Given the description of an element on the screen output the (x, y) to click on. 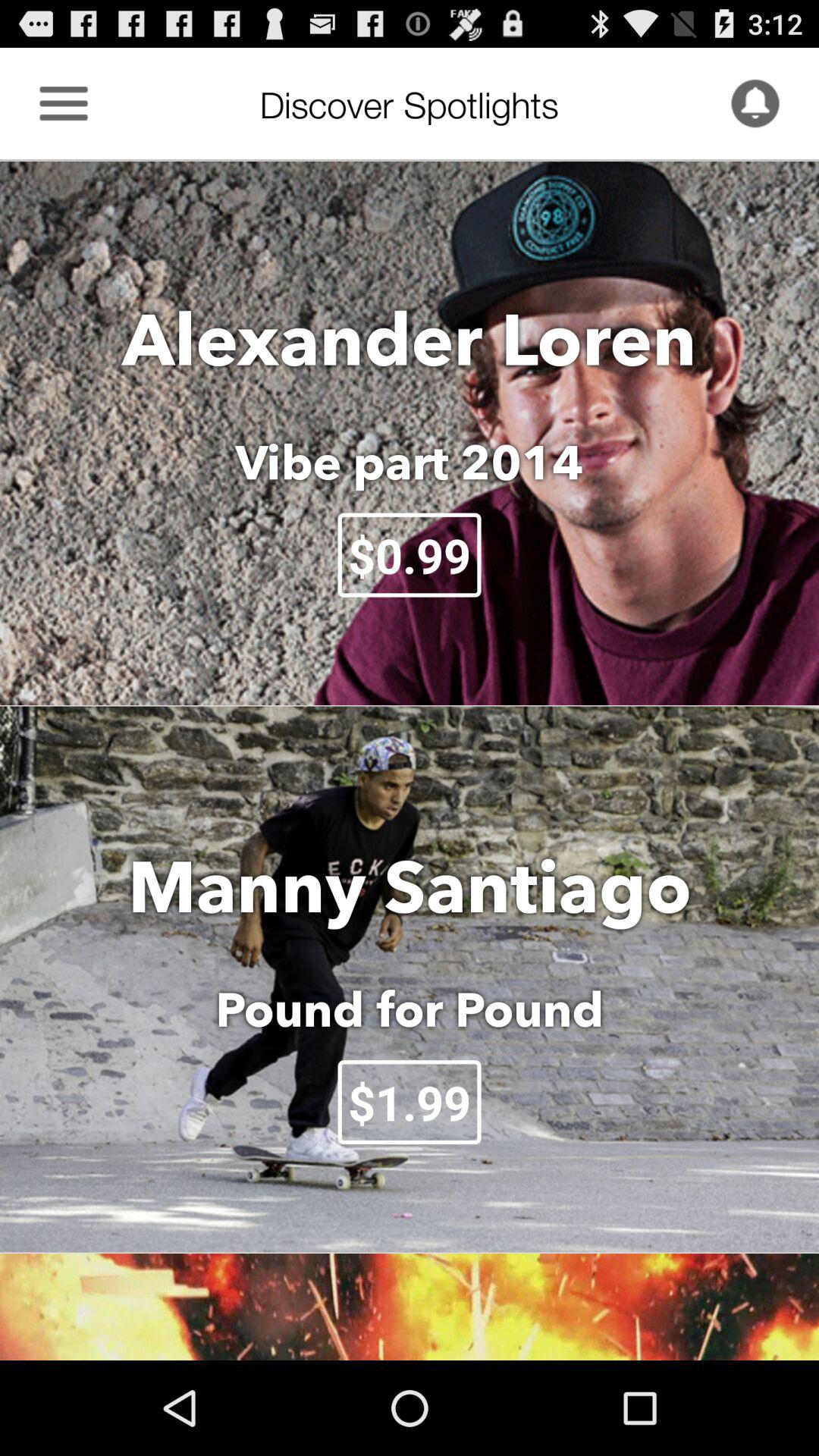
choose icon below the alexander loren (409, 461)
